Given the description of an element on the screen output the (x, y) to click on. 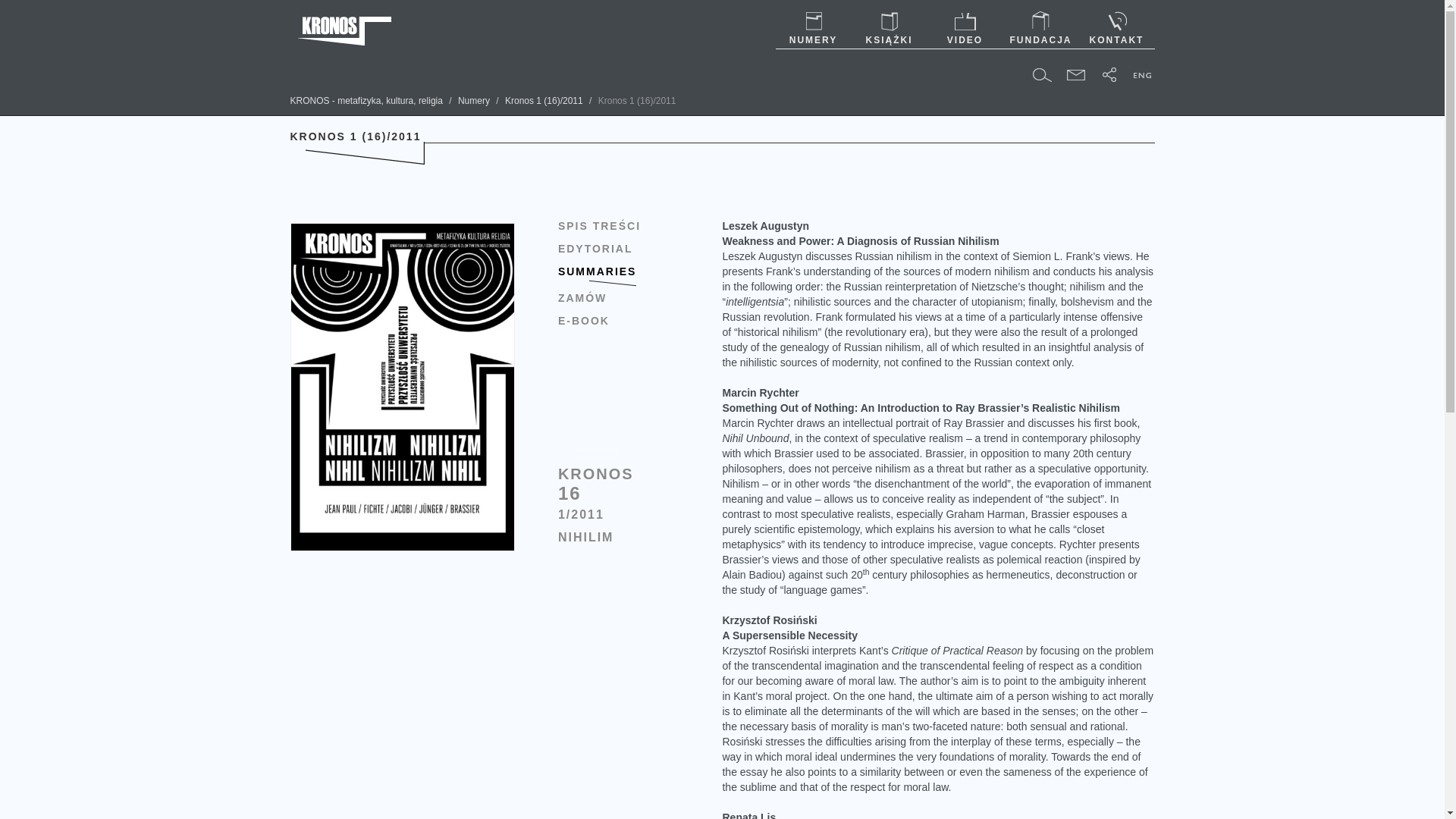
Numery (473, 100)
KRONOS - metafizyka, kultura, religia. (365, 100)
Numery. (473, 100)
KONTAKT (1116, 29)
E-BOOK (618, 324)
FUNDACJA (1040, 29)
EDYTORIAL (618, 252)
NUMERY (812, 29)
VIDEO (964, 29)
SUMMARIES (618, 277)
KRONOS - metafizyka, kultura, religia (365, 100)
